Given the description of an element on the screen output the (x, y) to click on. 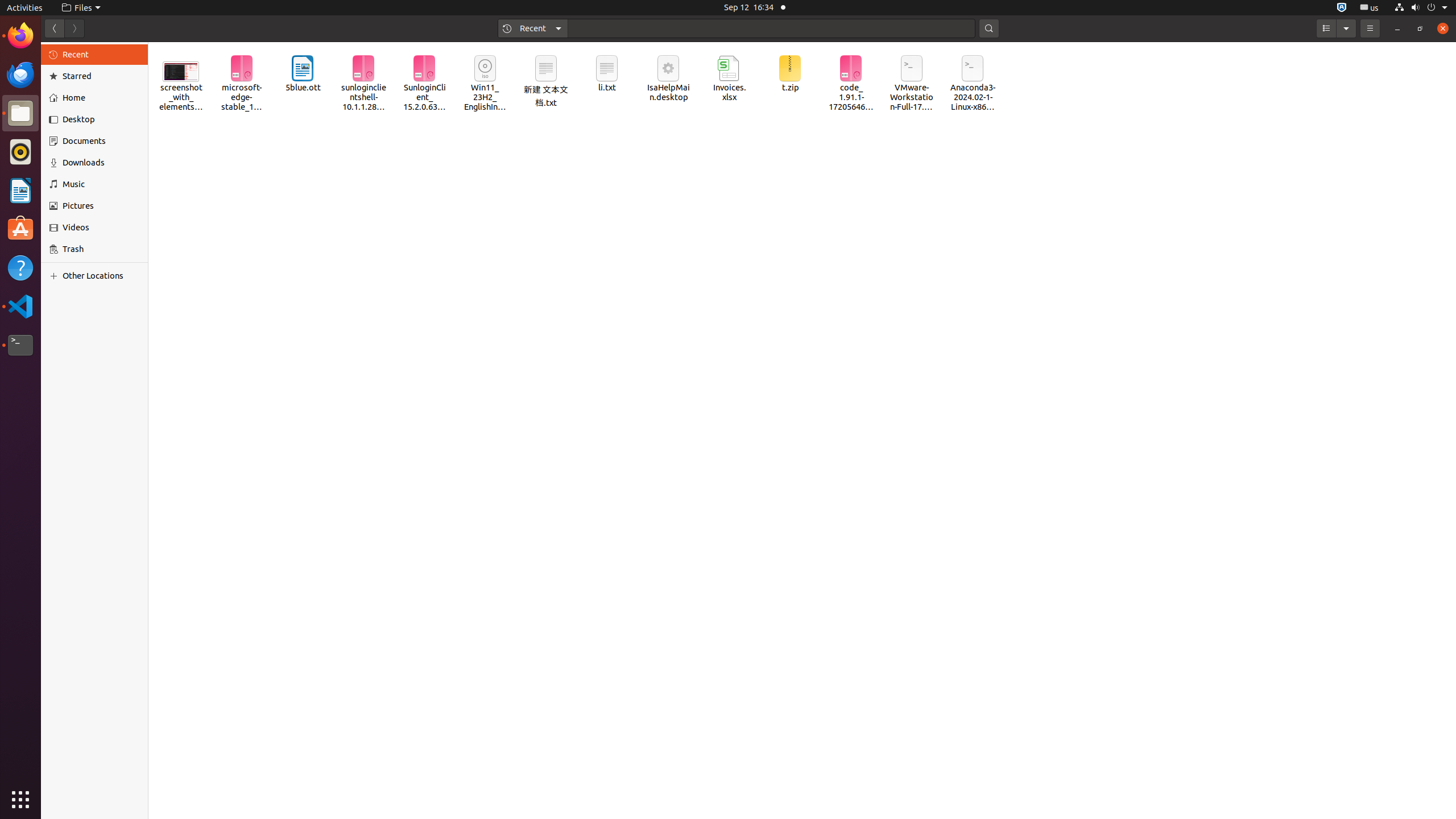
Documents Element type: label (100, 140)
IsaHelpMain.desktop Element type: label (75, 170)
t.zip Element type: canvas (789, 73)
Anaconda3-2024.02-1-Linux-x86_64.sh Element type: canvas (972, 83)
